Given the description of an element on the screen output the (x, y) to click on. 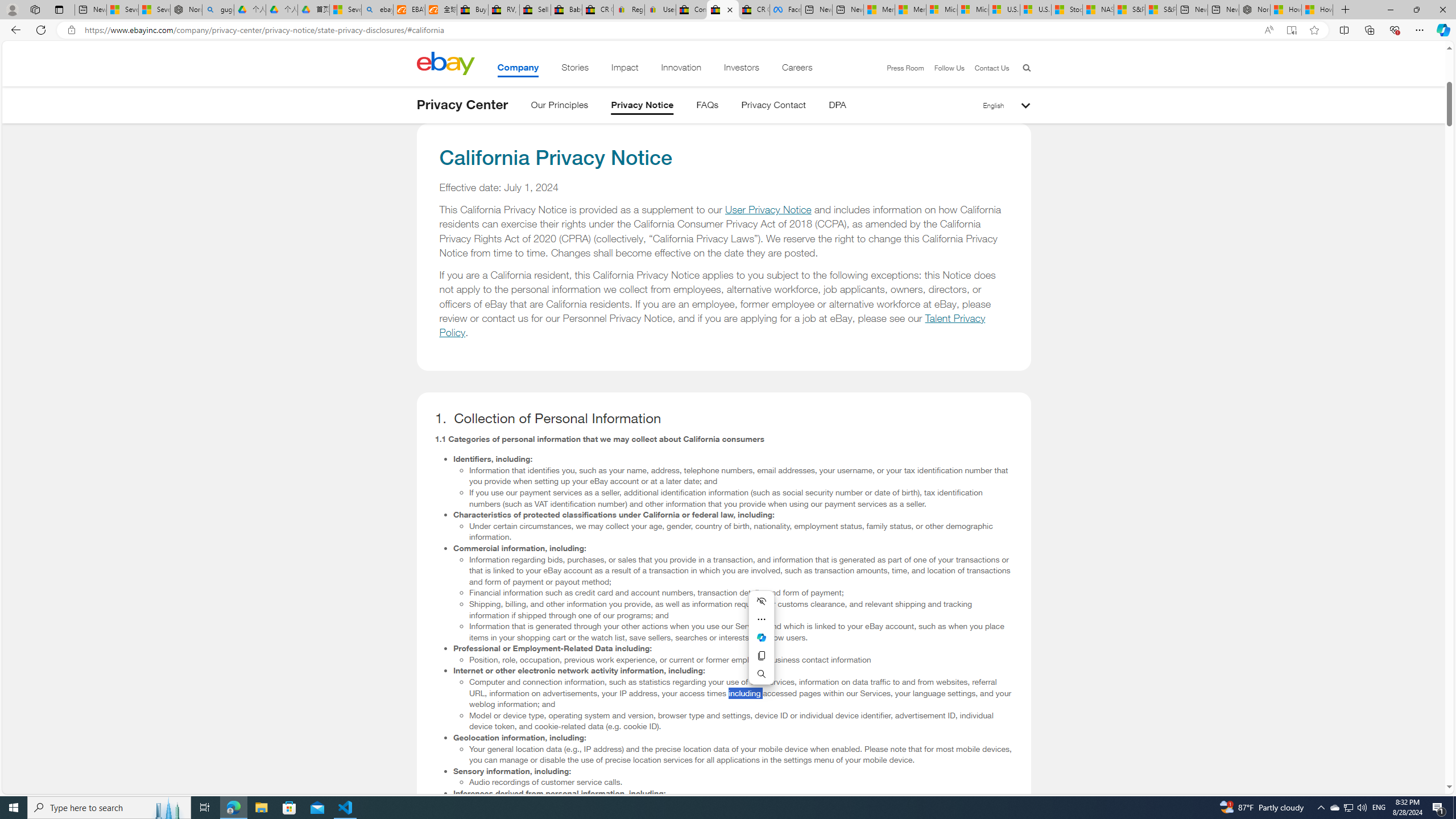
Baby Keepsakes & Announcements for sale | eBay (566, 9)
U.S. State Privacy Disclosures - eBay Inc. (722, 9)
S&P 500, Nasdaq end lower, weighed by Nvidia dip | Watch (1160, 9)
More actions (761, 619)
Privacy Center (462, 104)
